Given the description of an element on the screen output the (x, y) to click on. 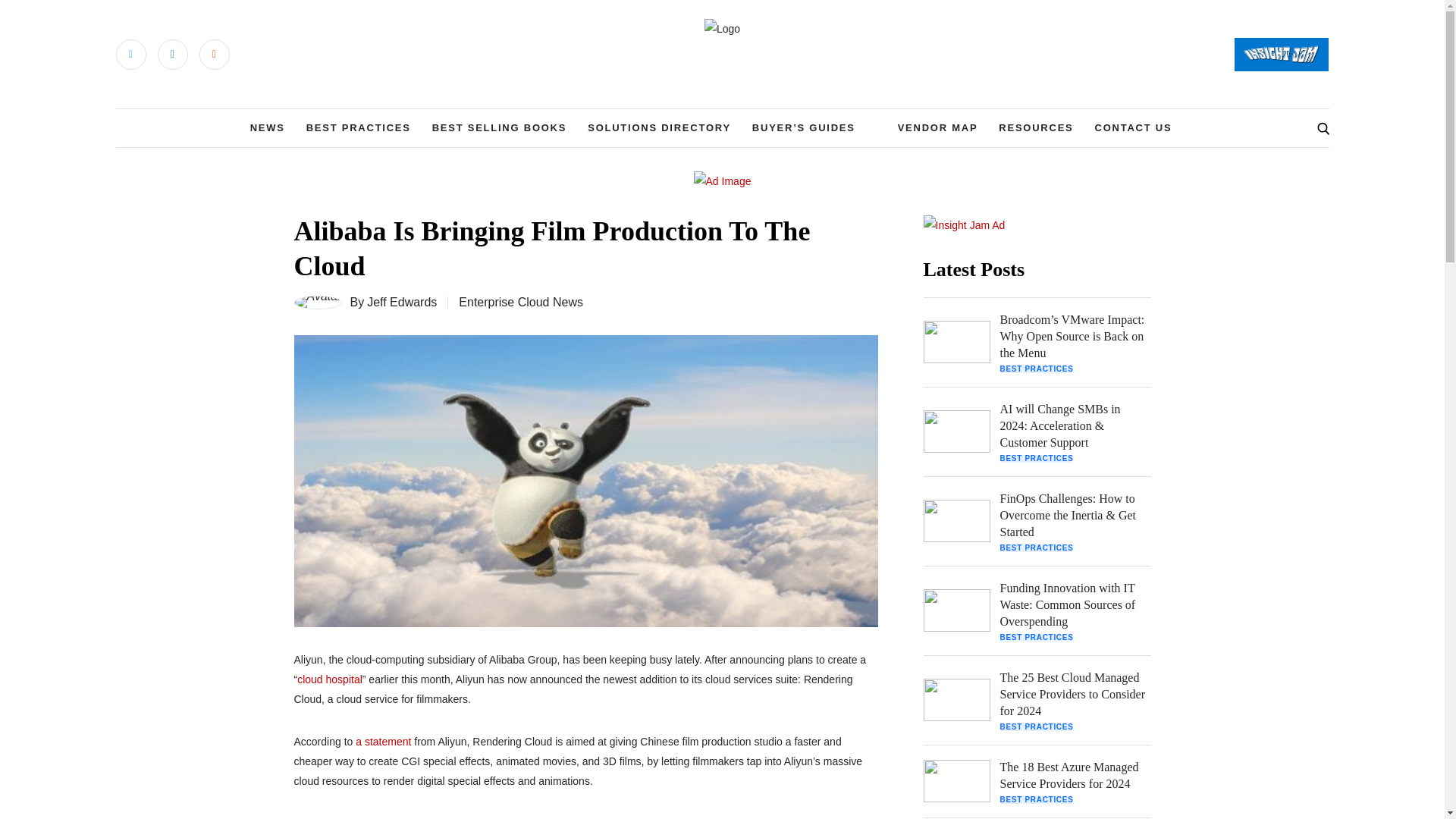
Enterprise Cloud News (520, 301)
Jeff Edwards (401, 302)
VENDOR MAP (938, 127)
CONTACT US (1133, 127)
cloud hospital (329, 679)
SOLUTIONS DIRECTORY (659, 127)
RESOURCES (1035, 127)
BEST SELLING BOOKS (499, 127)
Insight Jam Ad (964, 225)
a statement (382, 741)
NEWS (267, 127)
BEST PRACTICES (357, 127)
